Given the description of an element on the screen output the (x, y) to click on. 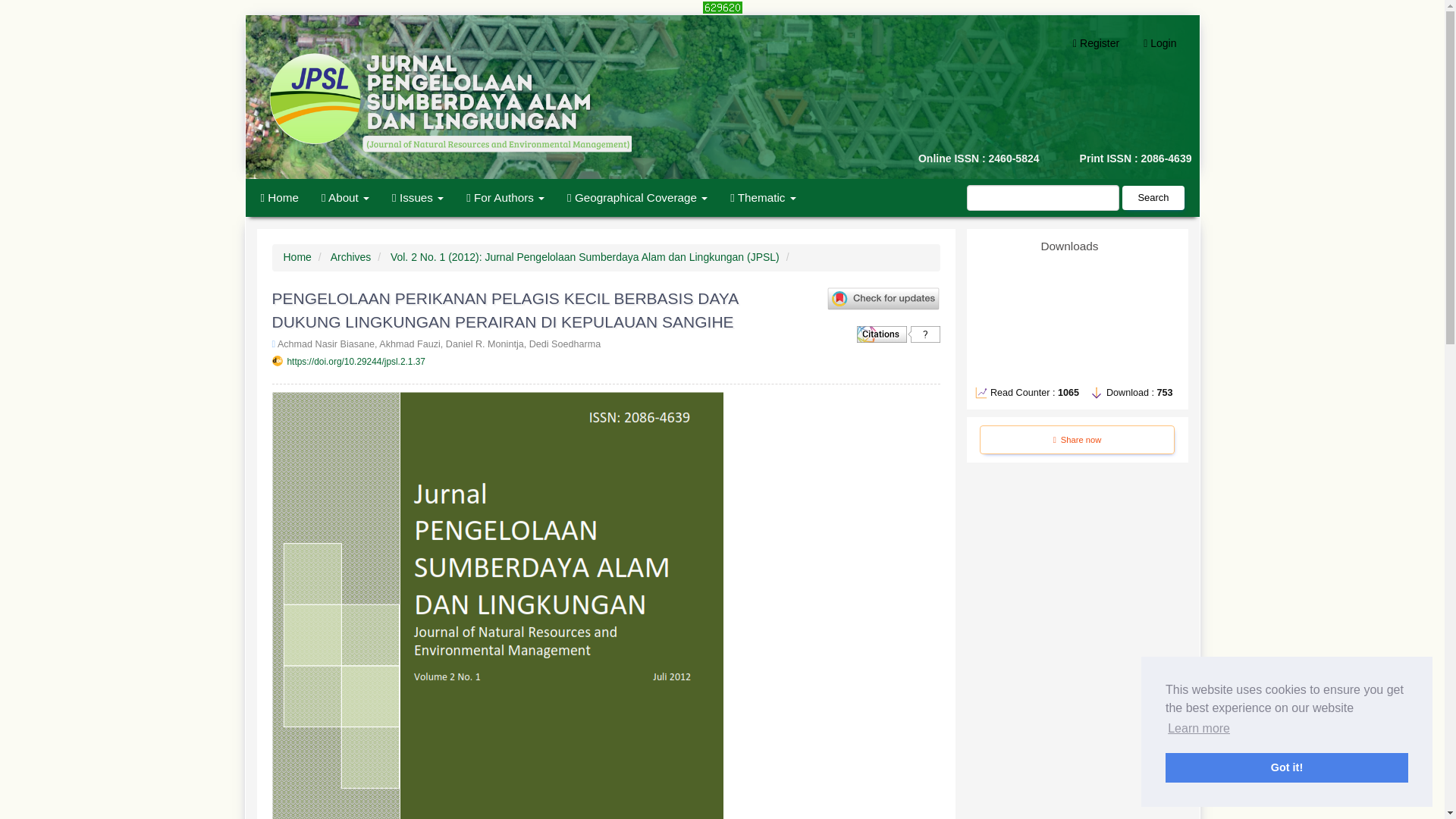
Register (1096, 43)
Print ISSN : 2086-4639 (1121, 159)
Issues (417, 198)
Home (279, 198)
Online ISSN : 2460-5824 (853, 159)
Geographical Coverage (637, 198)
About (345, 198)
Learn more (1198, 728)
Got it! (1286, 767)
Login (1160, 43)
For Authors (505, 198)
Thematic (763, 198)
